Given the description of an element on the screen output the (x, y) to click on. 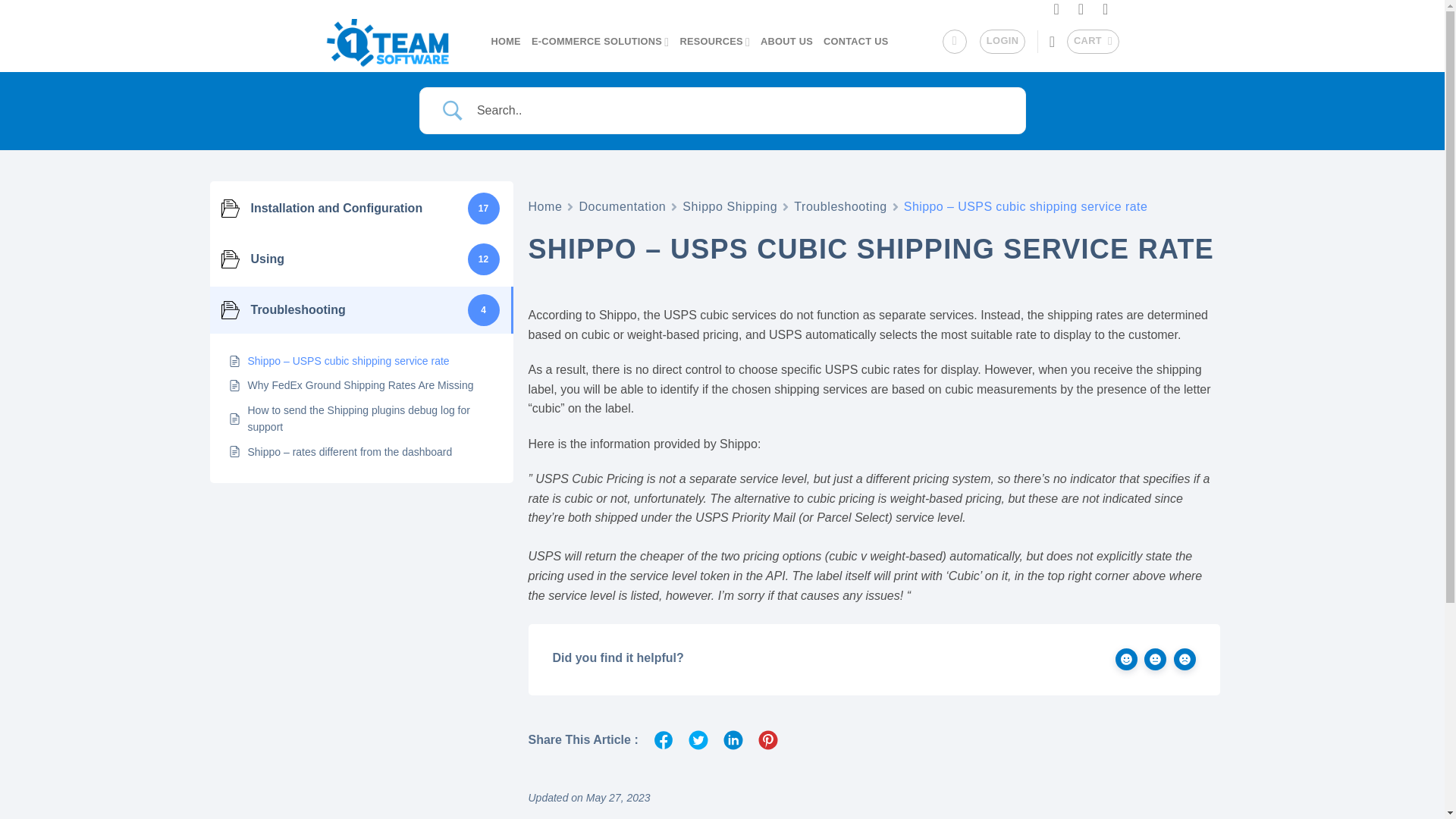
CART (1093, 41)
Follow on Facebook (1058, 10)
CONTACT US (856, 41)
Send us an email (1083, 10)
HOME (506, 41)
E-COMMERCE SOLUTIONS (600, 41)
Shippo Shipping (729, 206)
Follow on YouTube (1108, 10)
RESOURCES (714, 41)
Documentation (621, 206)
